Given the description of an element on the screen output the (x, y) to click on. 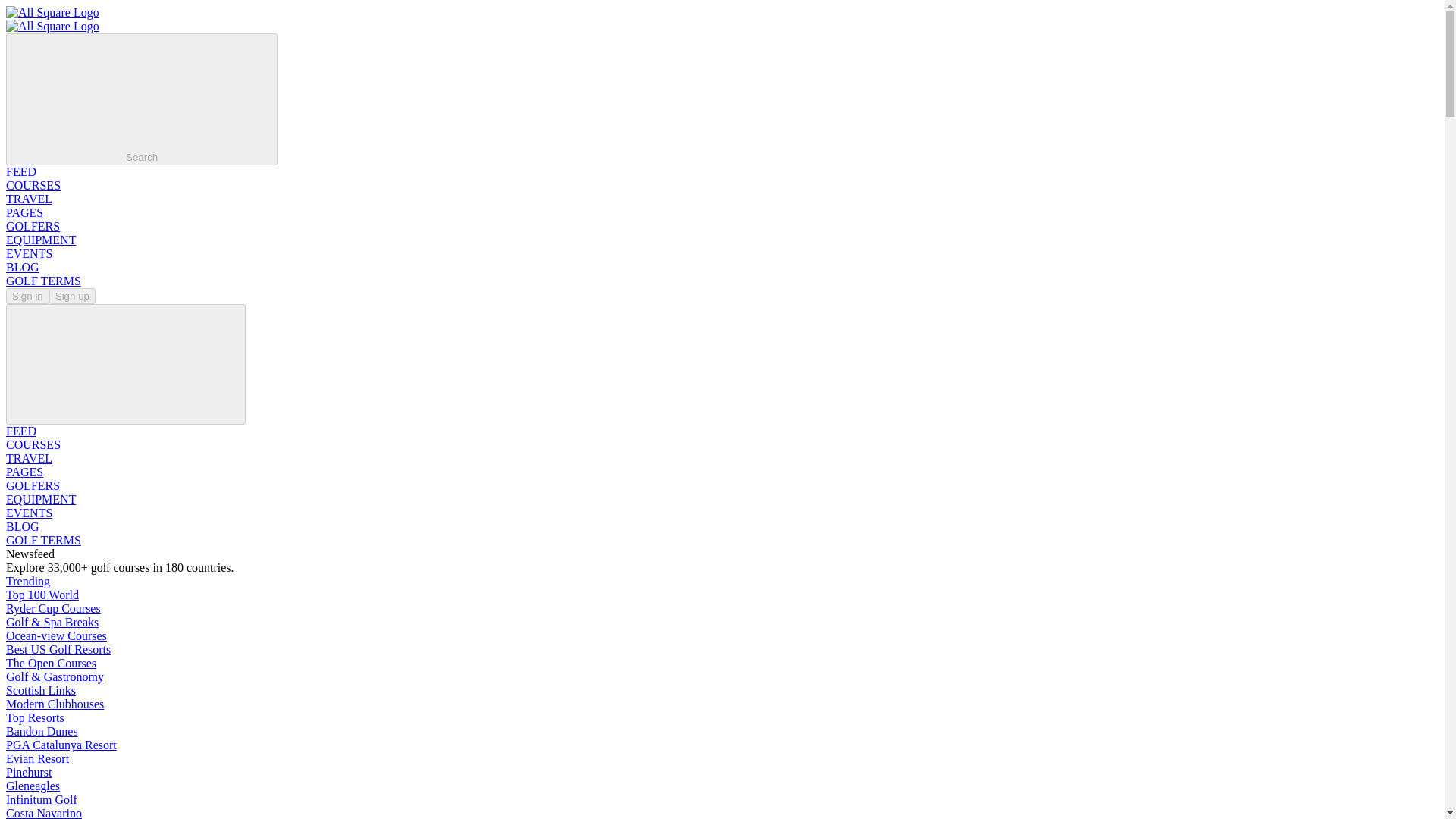
Trending (27, 581)
EQUIPMENT (40, 239)
COURSES (33, 185)
PAGES (24, 212)
GOLF TERMS (43, 280)
Search (141, 99)
FEED (20, 171)
Sign in (27, 295)
Top Resorts (34, 717)
BLOG (22, 267)
TRAVEL (28, 198)
GOLFERS (32, 226)
Sign up (72, 295)
EVENTS (28, 253)
